Given the description of an element on the screen output the (x, y) to click on. 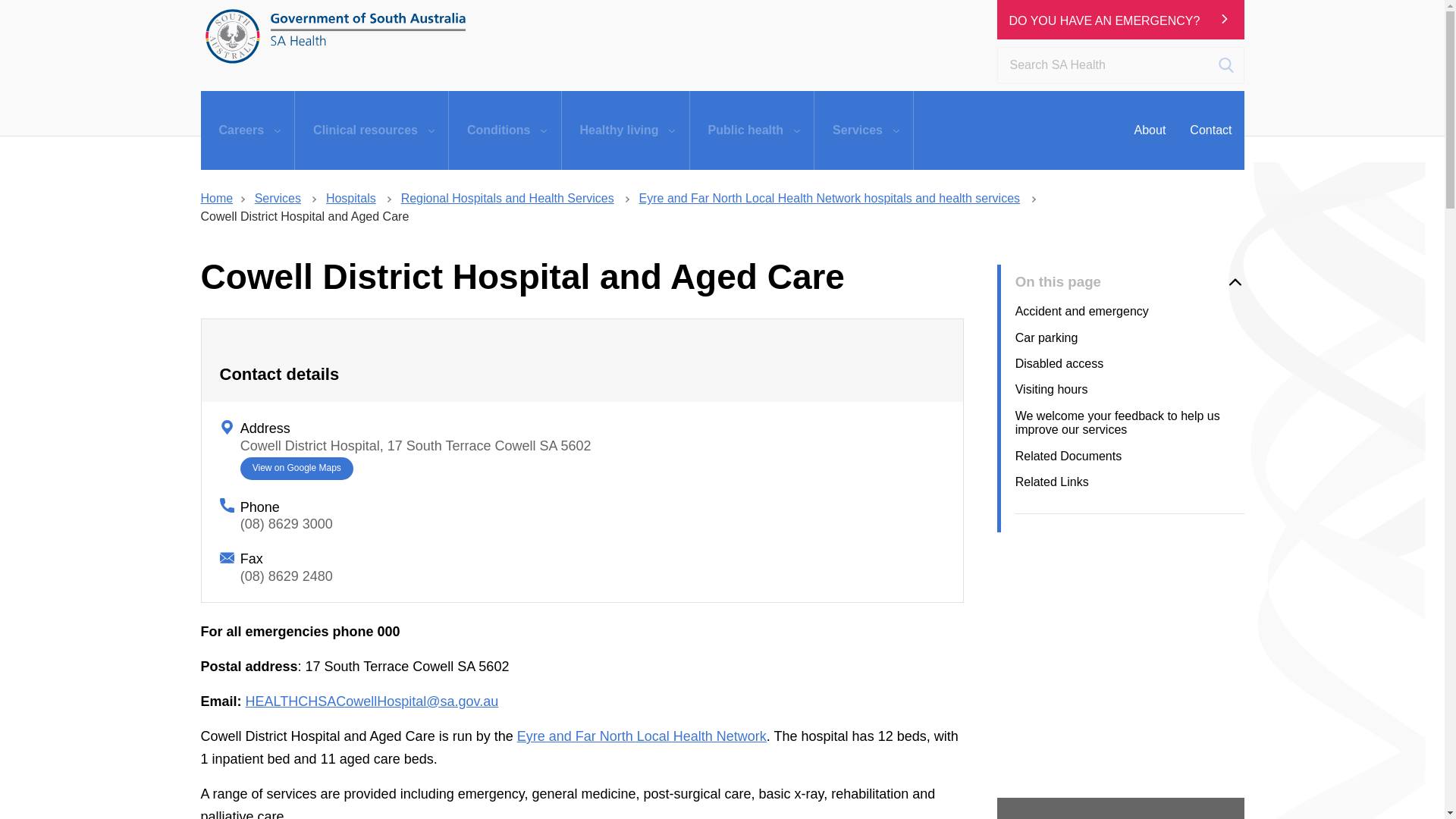
SA Health (335, 35)
Accident and emergency (1129, 317)
Search (1225, 64)
Careers (247, 129)
Envelope (226, 557)
Visiting hours (1129, 395)
Conditions (504, 129)
Related Documents (1129, 462)
DO YOU HAVE AN EMERGENCY? (1104, 20)
We welcome your feedback to help us improve our services (1129, 429)
Link to external site. (295, 468)
Car parking (1129, 344)
Clinical resources (371, 129)
Link to external site. (415, 445)
Related Links (1129, 488)
